Given the description of an element on the screen output the (x, y) to click on. 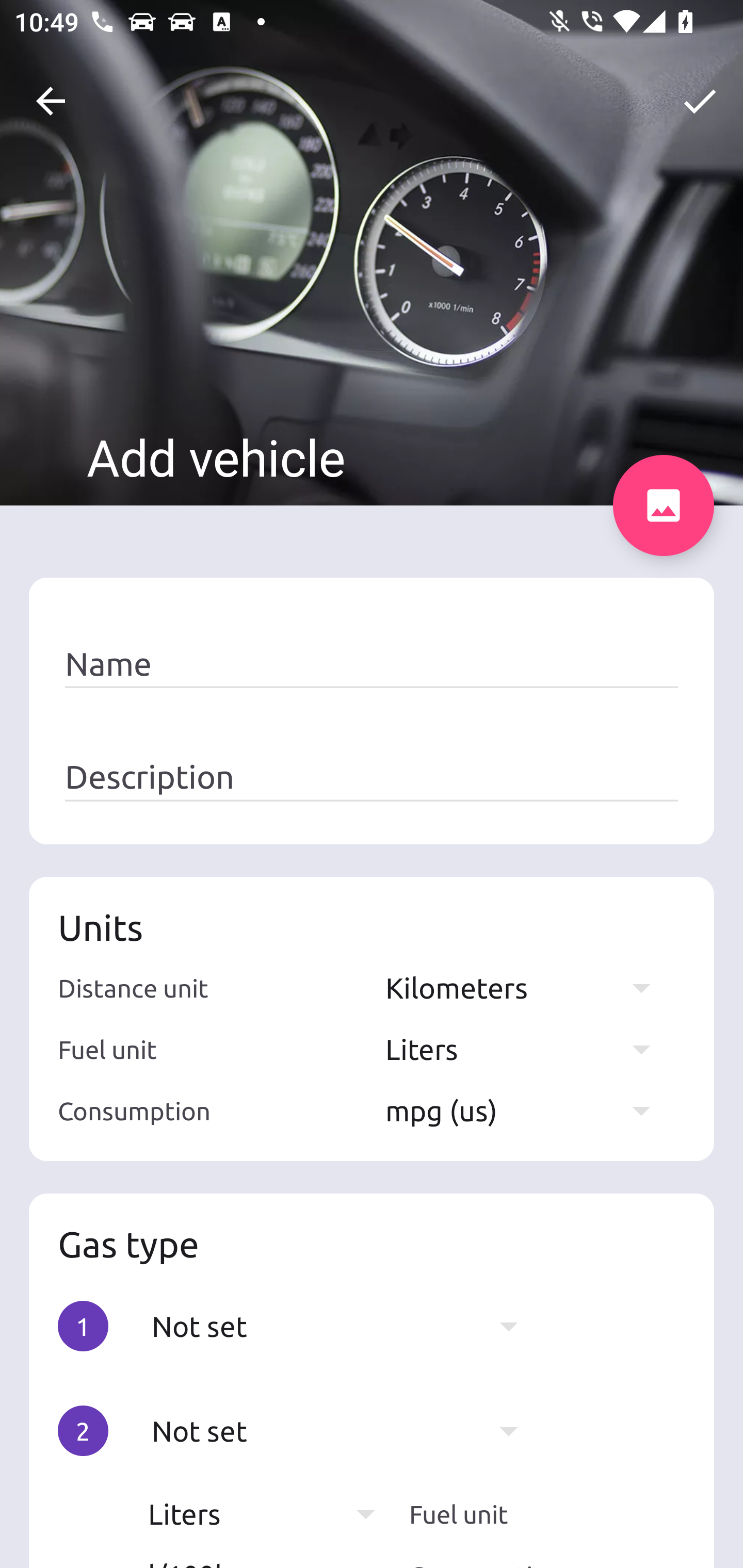
Navigate up (50, 101)
OK (699, 101)
Name (371, 664)
Description (371, 777)
Kilometers (527, 987)
Liters (527, 1048)
mpg (us) (527, 1110)
Not set (344, 1325)
Not set (344, 1430)
Liters (271, 1513)
